Given the description of an element on the screen output the (x, y) to click on. 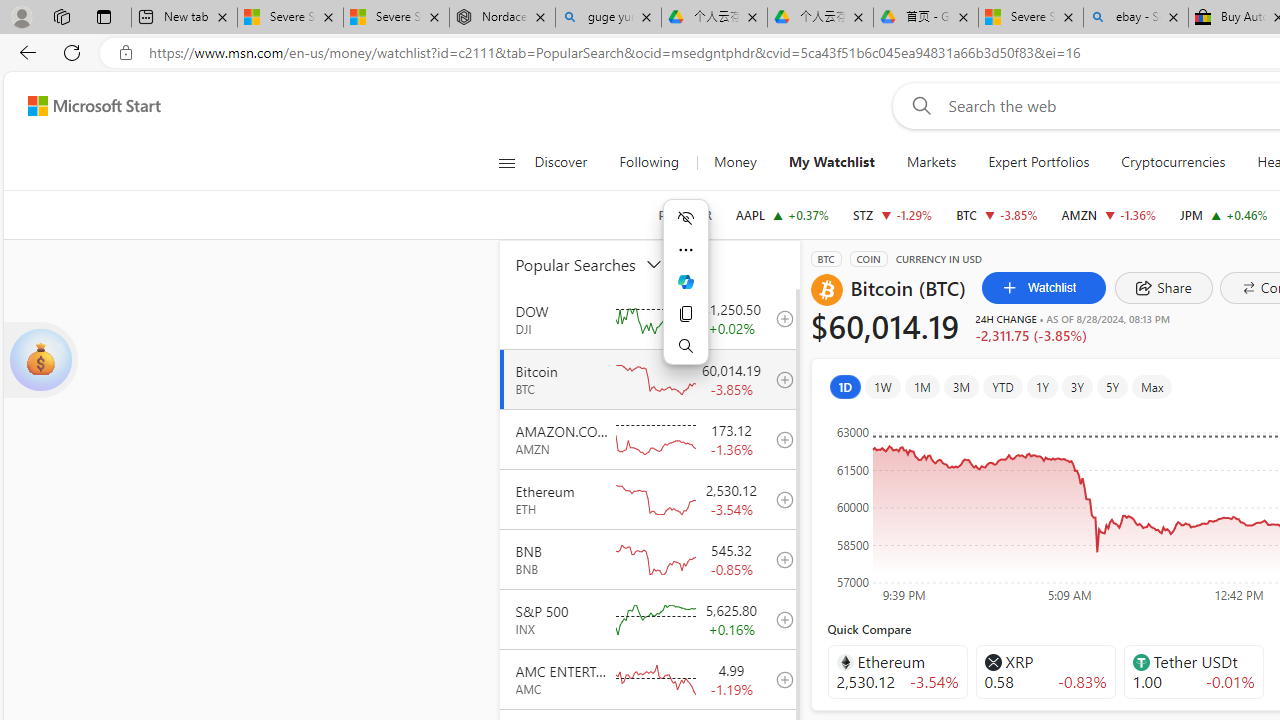
share dialog (1163, 287)
add to your watchlist (779, 678)
3Y (1077, 386)
AMZN AMAZON.COM, INC. decrease 173.12 -2.38 -1.36% (1108, 214)
3M (961, 386)
ebay - Search (1135, 17)
Skip to content (86, 105)
YTD (1002, 386)
Money (734, 162)
Open navigation menu (506, 162)
